Given the description of an element on the screen output the (x, y) to click on. 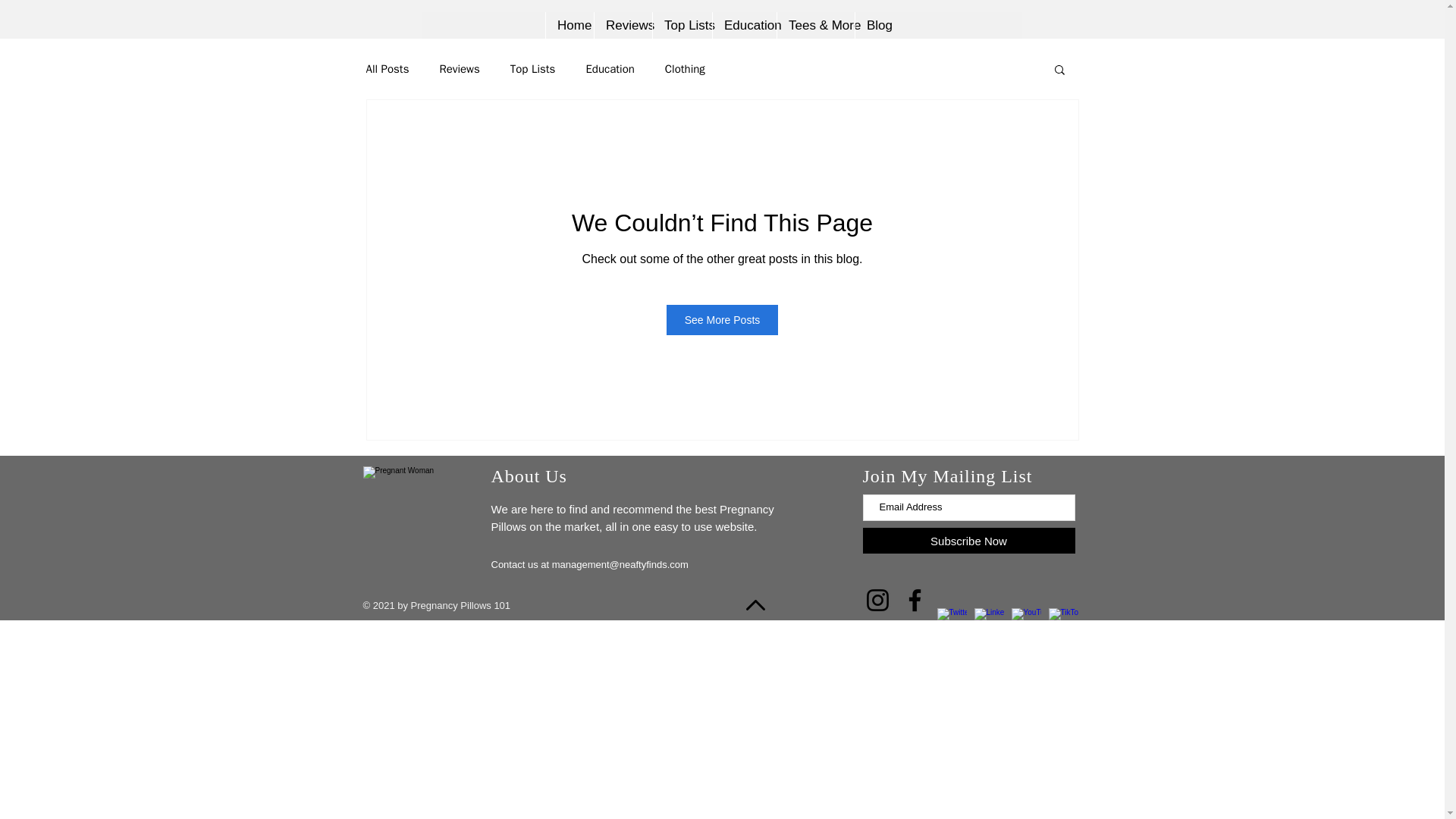
Subscribe Now (969, 540)
Blog (876, 25)
See More Posts (722, 319)
All Posts (387, 69)
Reviews (459, 69)
Home (569, 25)
Top Lists (533, 69)
Education (743, 25)
Education (609, 69)
Clothing (684, 69)
